Given the description of an element on the screen output the (x, y) to click on. 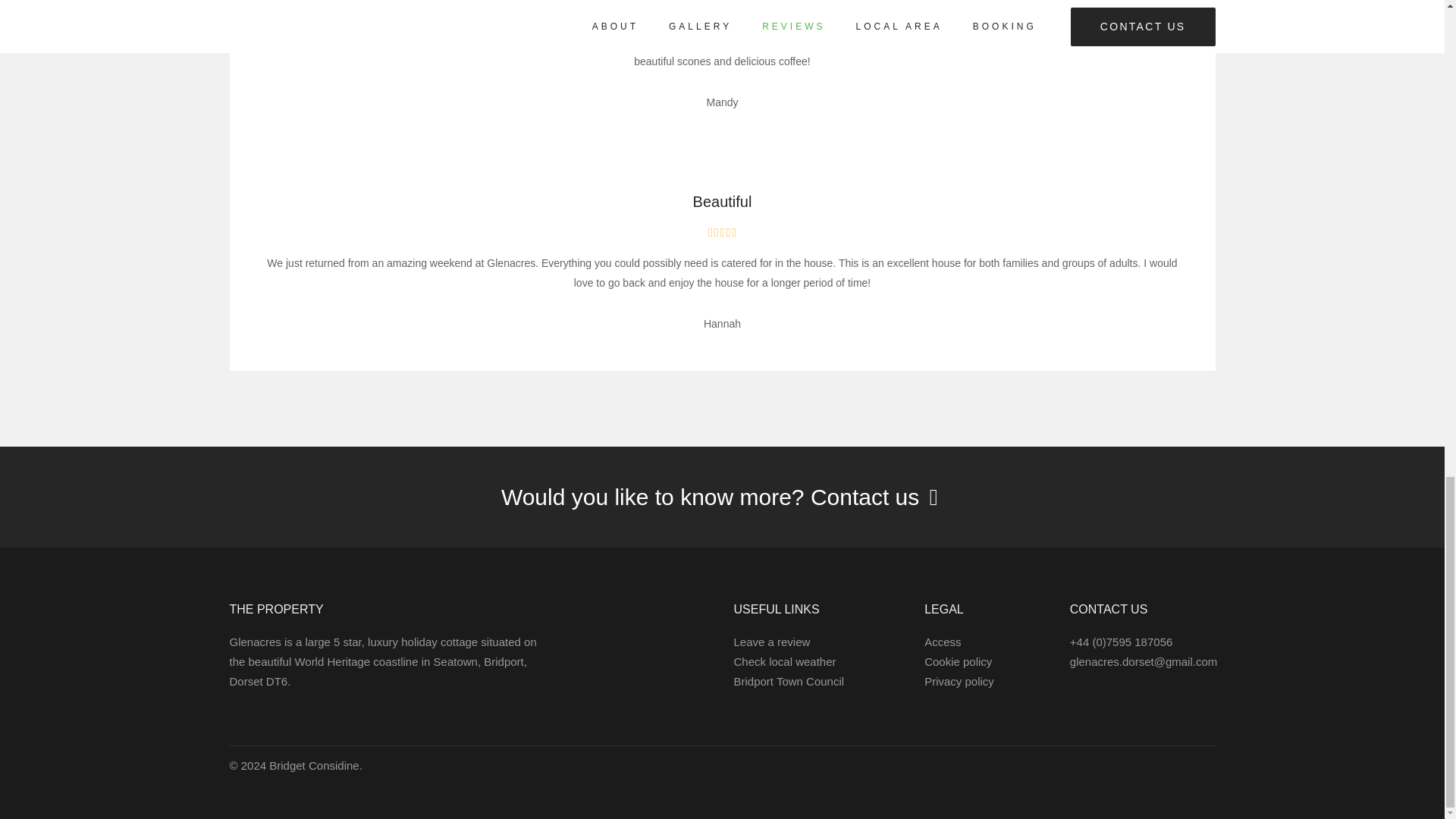
Check local weather (784, 661)
Access (942, 641)
Cookie policy (957, 661)
Leave a review (771, 641)
Would you like to know more? Contact us   (721, 496)
Bridport Town Council (788, 680)
Privacy policy (959, 680)
